Given the description of an element on the screen output the (x, y) to click on. 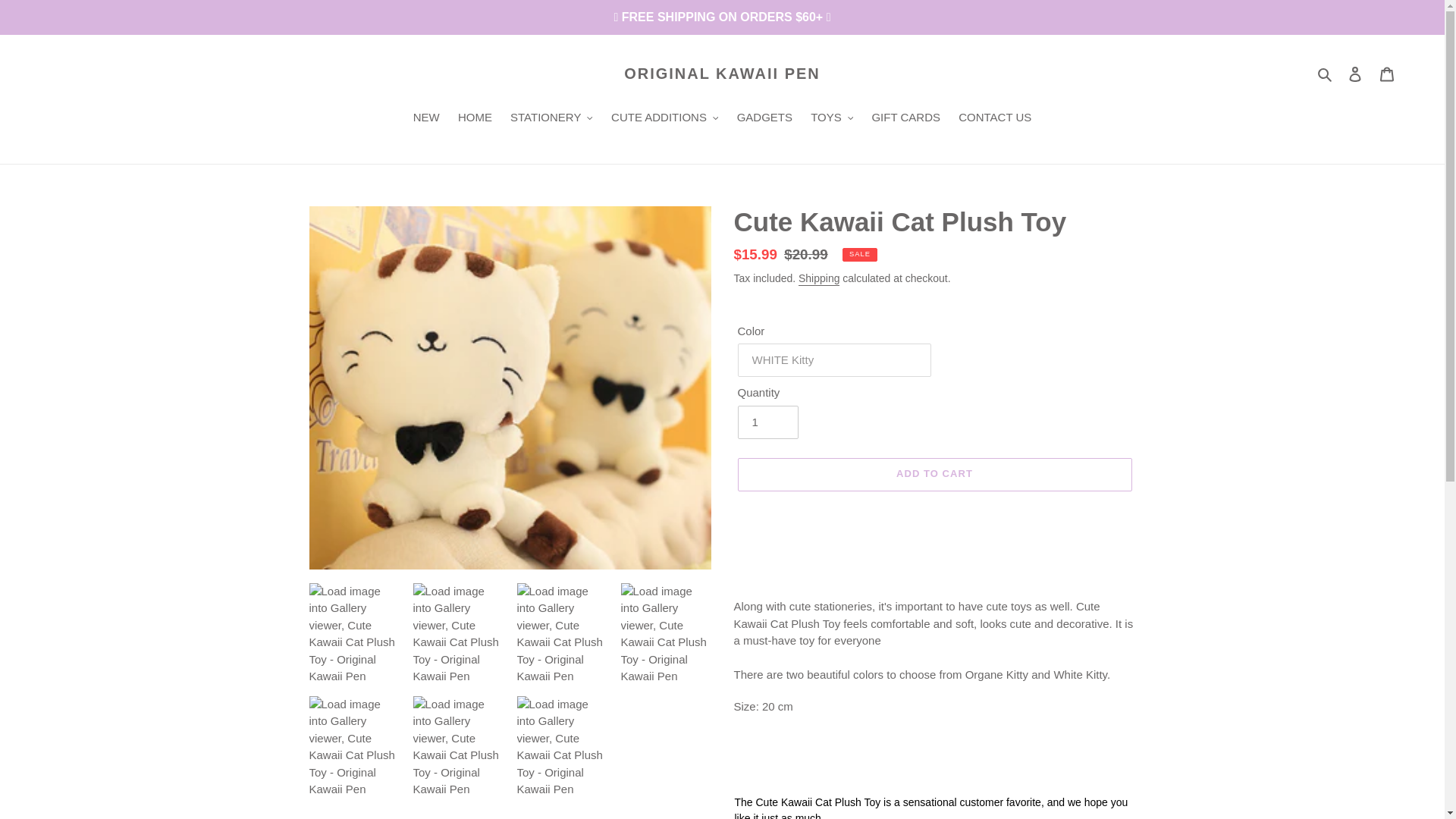
Log in (1355, 73)
1 (766, 421)
Cart (1387, 73)
ORIGINAL KAWAII PEN (722, 73)
Search (1326, 73)
